Given the description of an element on the screen output the (x, y) to click on. 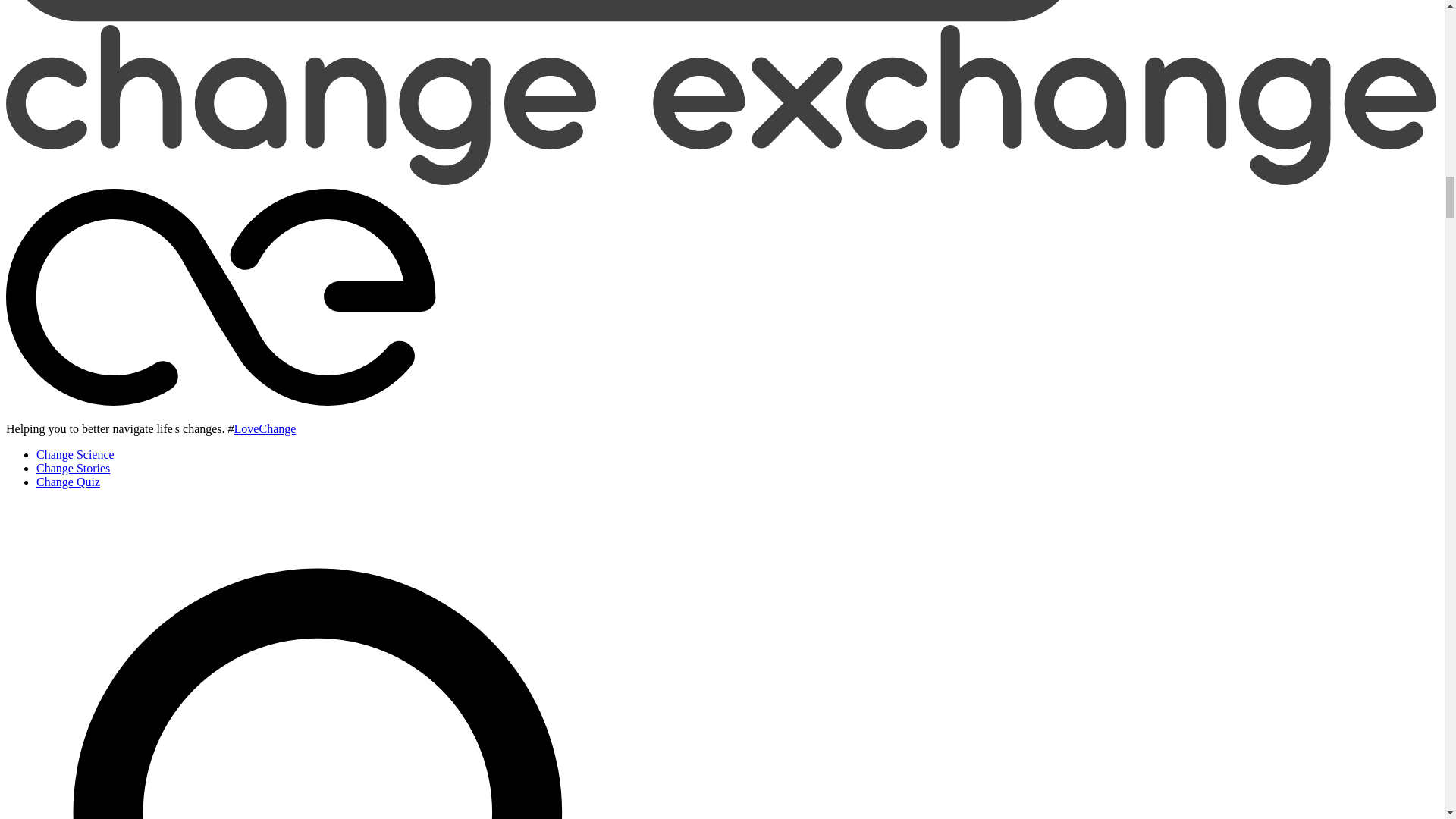
Change Stories (73, 468)
LoveChange (265, 428)
Change Science (75, 454)
Change Quiz (68, 481)
